Given the description of an element on the screen output the (x, y) to click on. 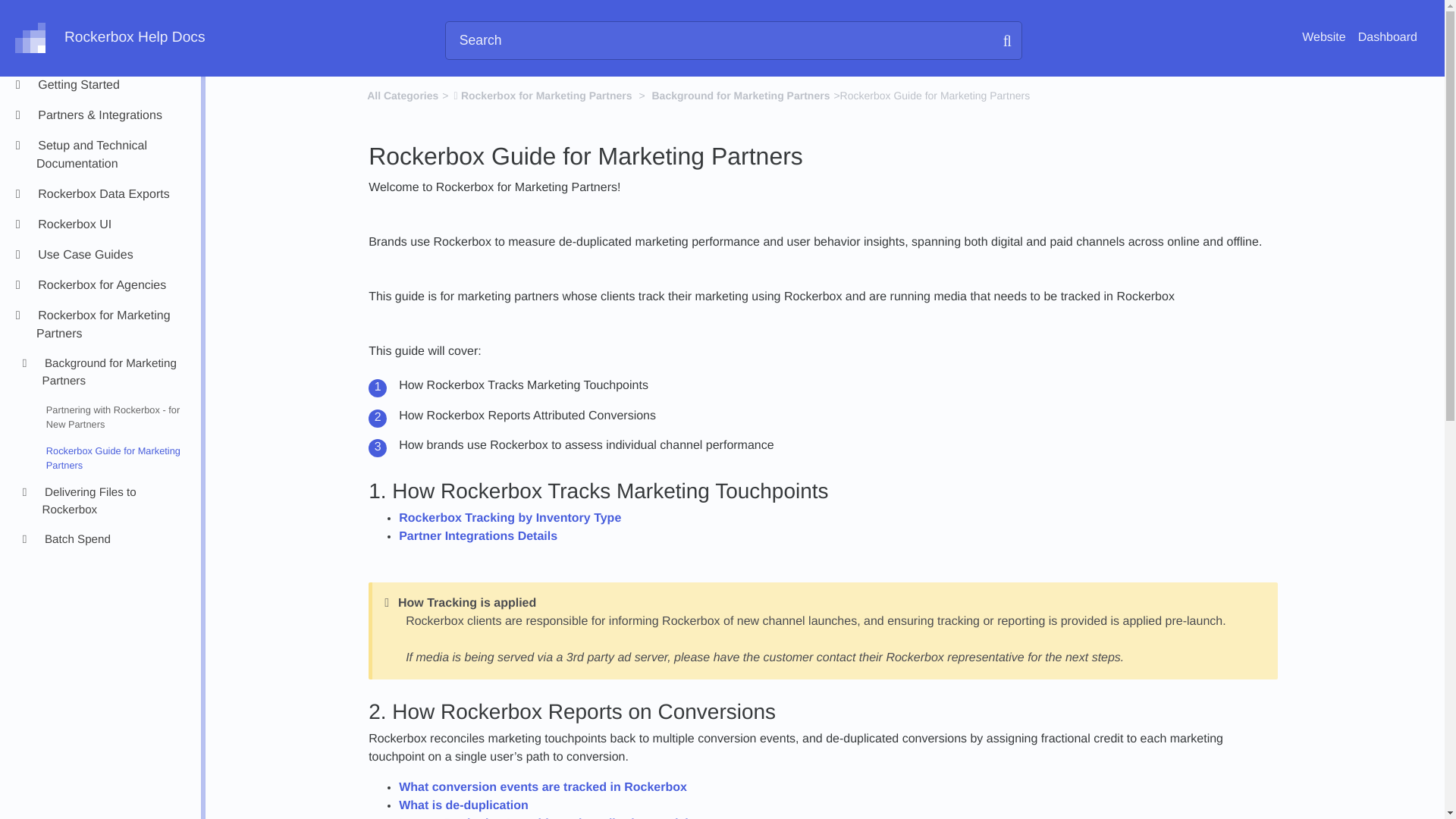
Website (1323, 37)
Getting Started (112, 85)
Rockerbox Help Docs (109, 37)
Dashboard (1387, 37)
